Given the description of an element on the screen output the (x, y) to click on. 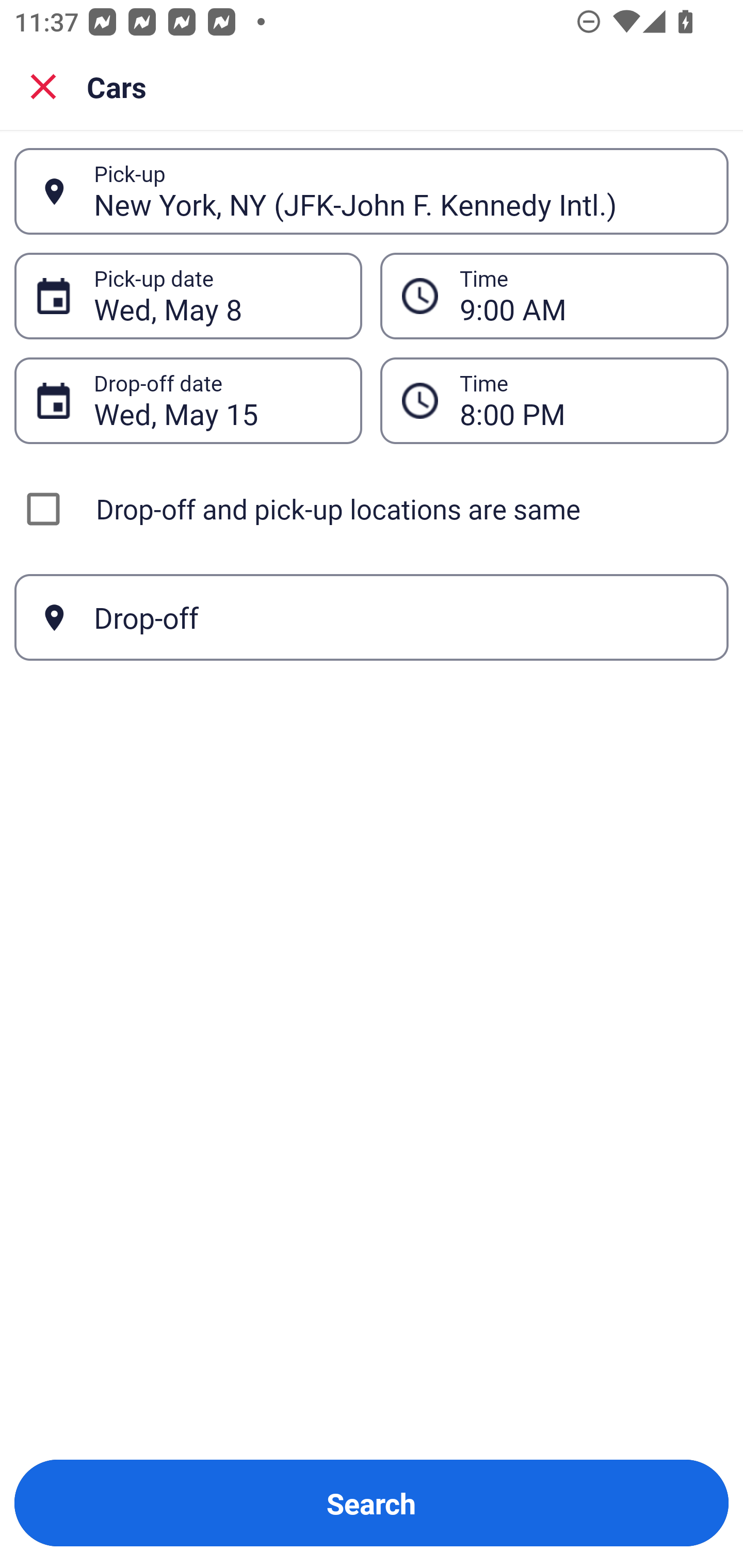
Close search screen (43, 86)
New York, NY (JFK-John F. Kennedy Intl.) Pick-up (371, 191)
New York, NY (JFK-John F. Kennedy Intl.) (399, 191)
Wed, May 8 Pick-up date (188, 295)
9:00 AM (554, 295)
Wed, May 8 (216, 296)
9:00 AM (582, 296)
Wed, May 15 Drop-off date (188, 400)
8:00 PM (554, 400)
Wed, May 15 (216, 400)
8:00 PM (582, 400)
Drop-off and pick-up locations are same (371, 508)
Drop-off (371, 616)
Search Button Search (371, 1502)
